Given the description of an element on the screen output the (x, y) to click on. 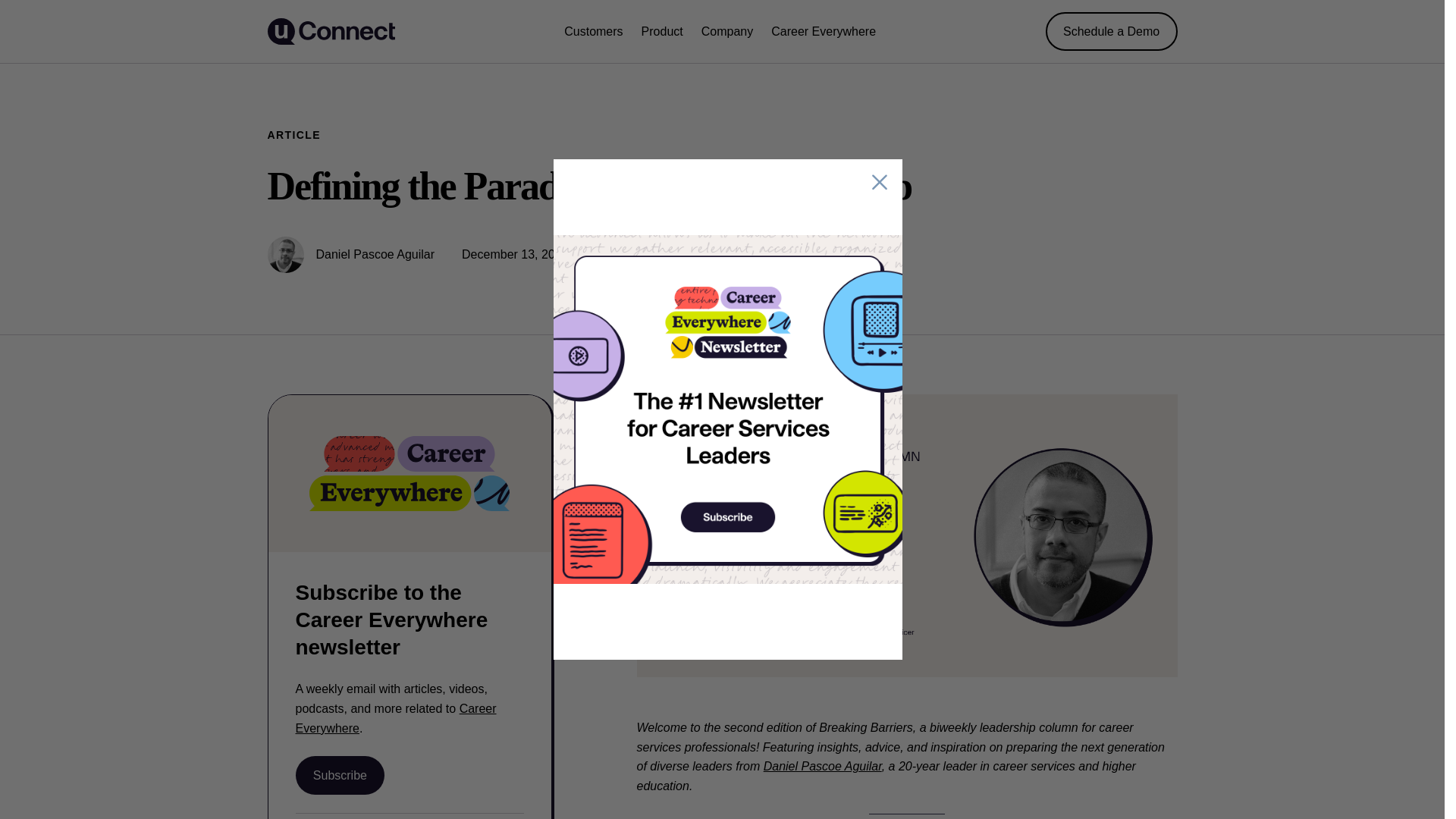
Subscribe (340, 774)
Career Everywhere (823, 31)
Career Everywhere (395, 717)
Company (726, 31)
Product (662, 31)
Daniel Pascoe Aguilar (822, 766)
Schedule a Demo (1111, 31)
Customers (593, 31)
